Given the description of an element on the screen output the (x, y) to click on. 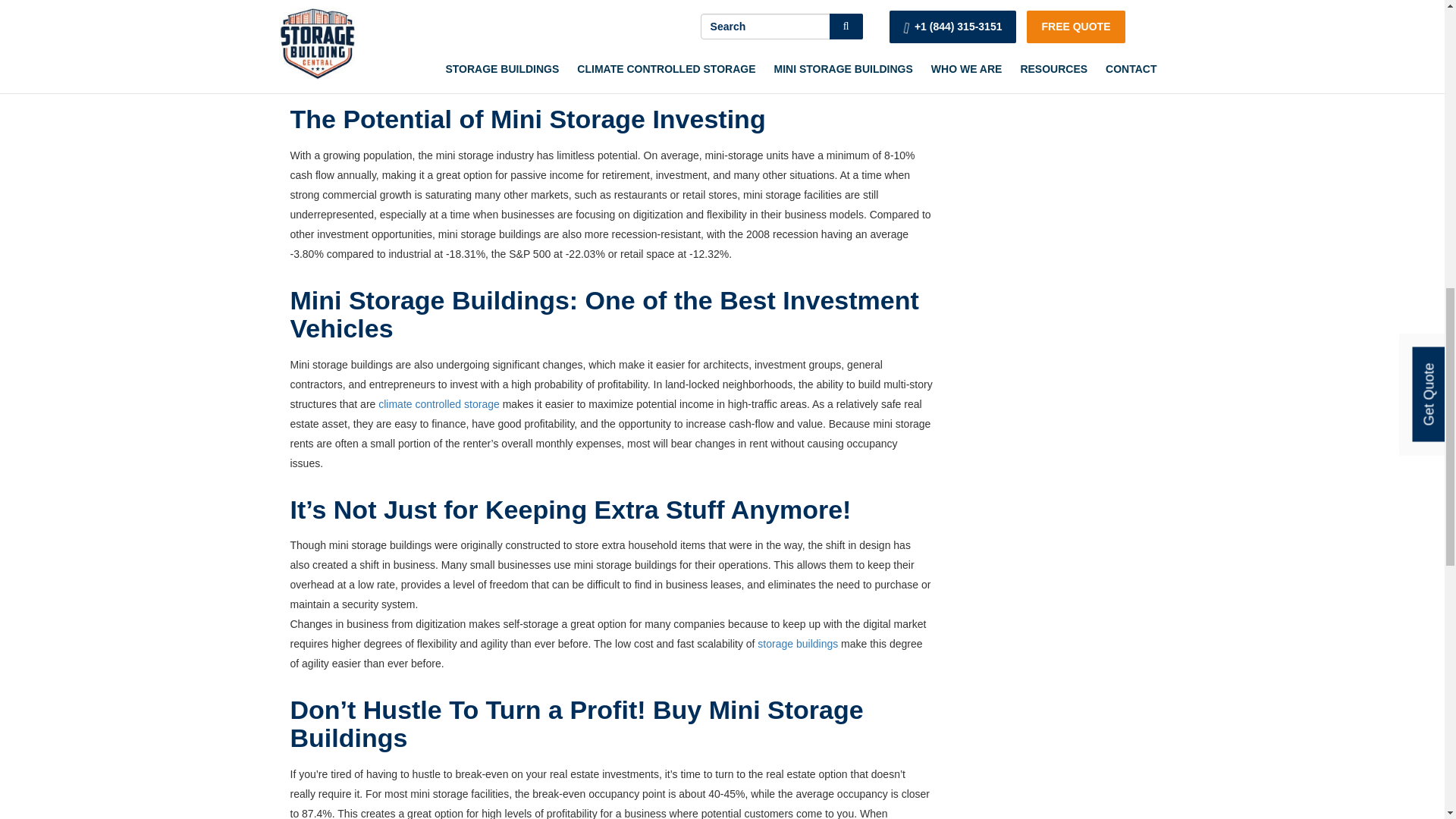
storage buildings (797, 644)
climate controlled storage (438, 404)
